Given the description of an element on the screen output the (x, y) to click on. 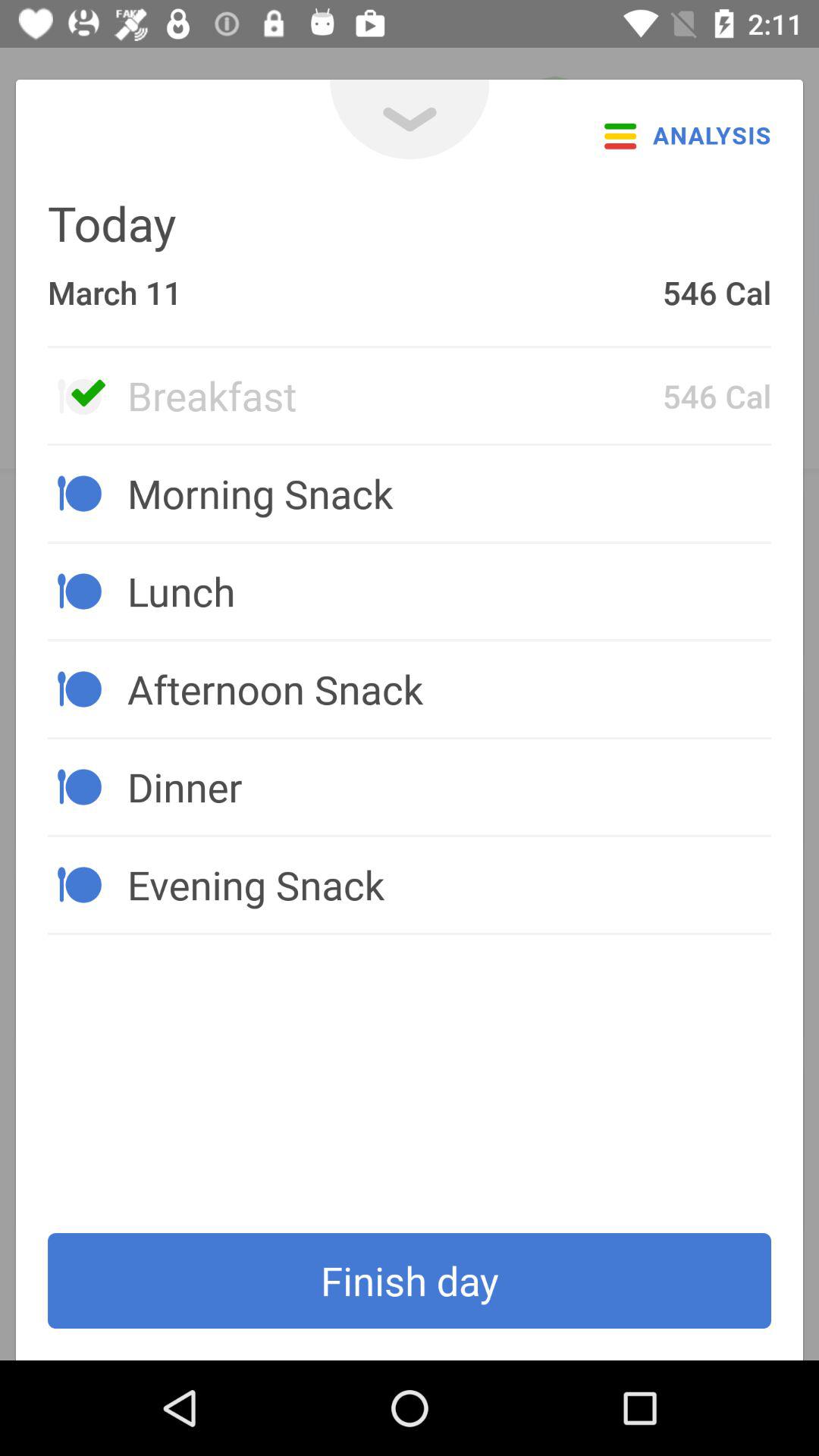
turn on the item next to 546 cal icon (394, 395)
